Given the description of an element on the screen output the (x, y) to click on. 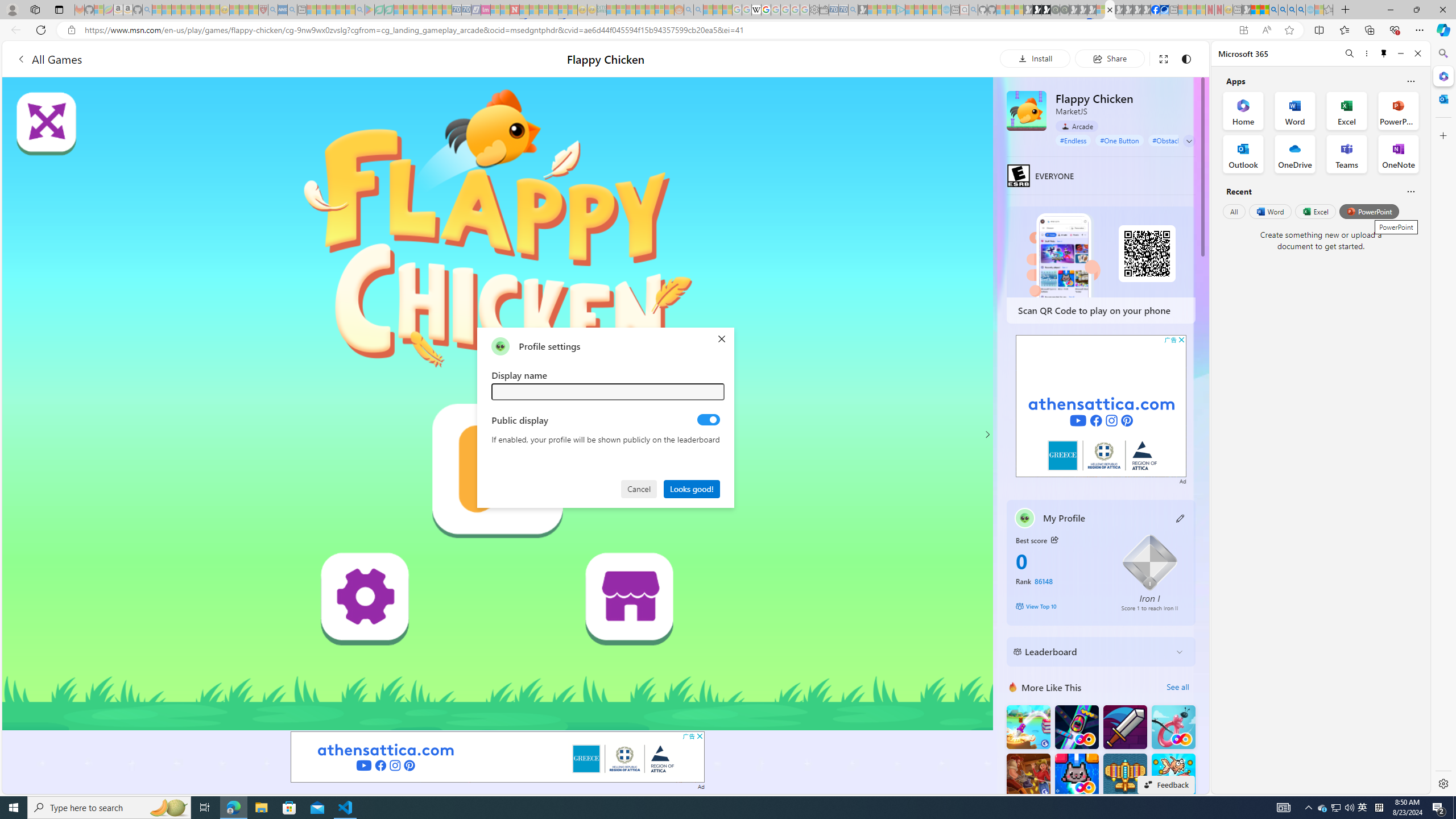
The Weather Channel - MSN - Sleeping (175, 9)
Jobs - lastminute.com Investor Portal - Sleeping (485, 9)
#Endless (1073, 140)
Class: button (1053, 539)
PowerPoint Office App (1398, 110)
AutomationID: cbb (1181, 339)
